Given the description of an element on the screen output the (x, y) to click on. 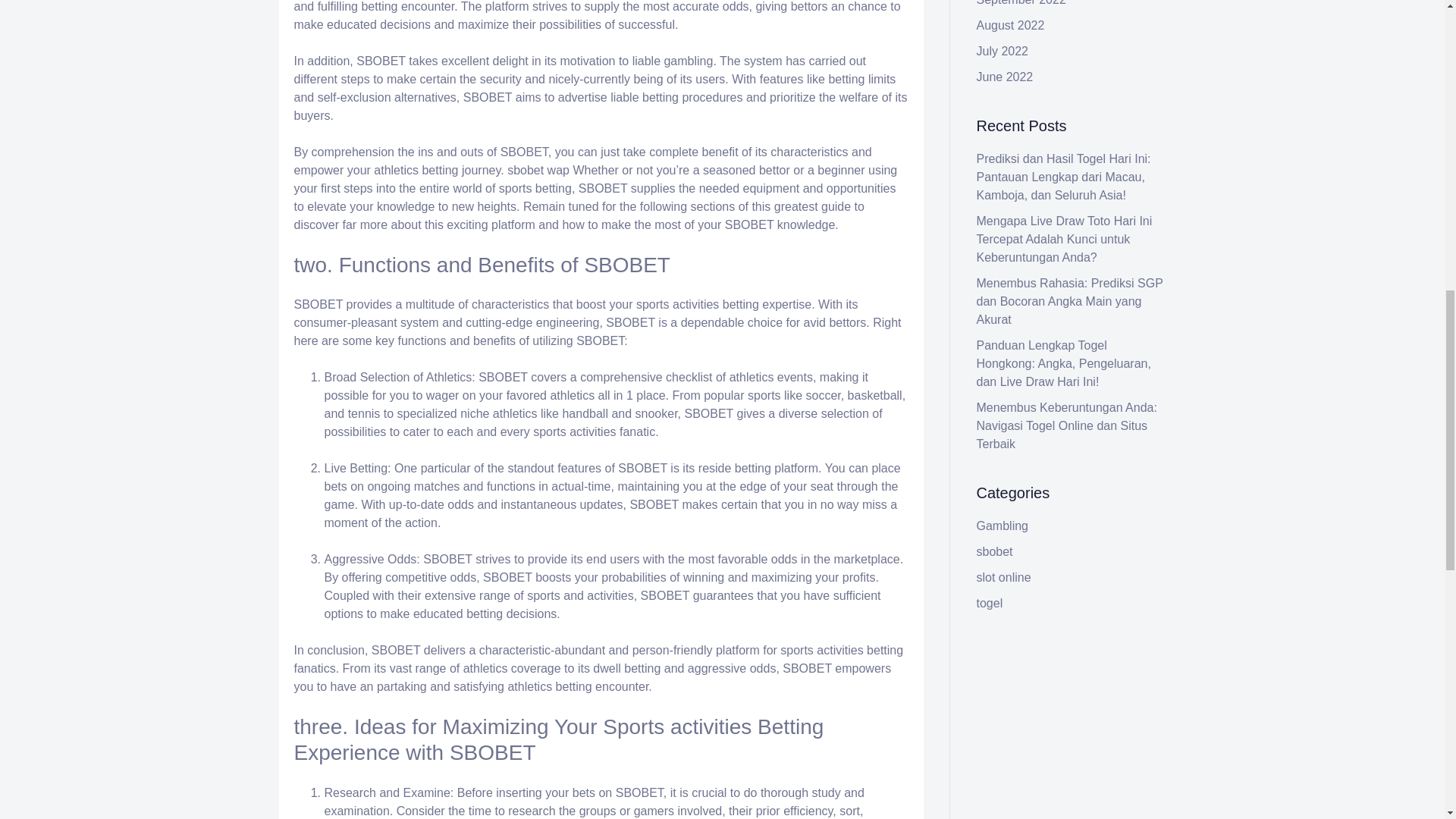
sbobet wap (537, 169)
June 2022 (1004, 76)
September 2022 (1020, 2)
July 2022 (1002, 51)
August 2022 (1010, 24)
